Given the description of an element on the screen output the (x, y) to click on. 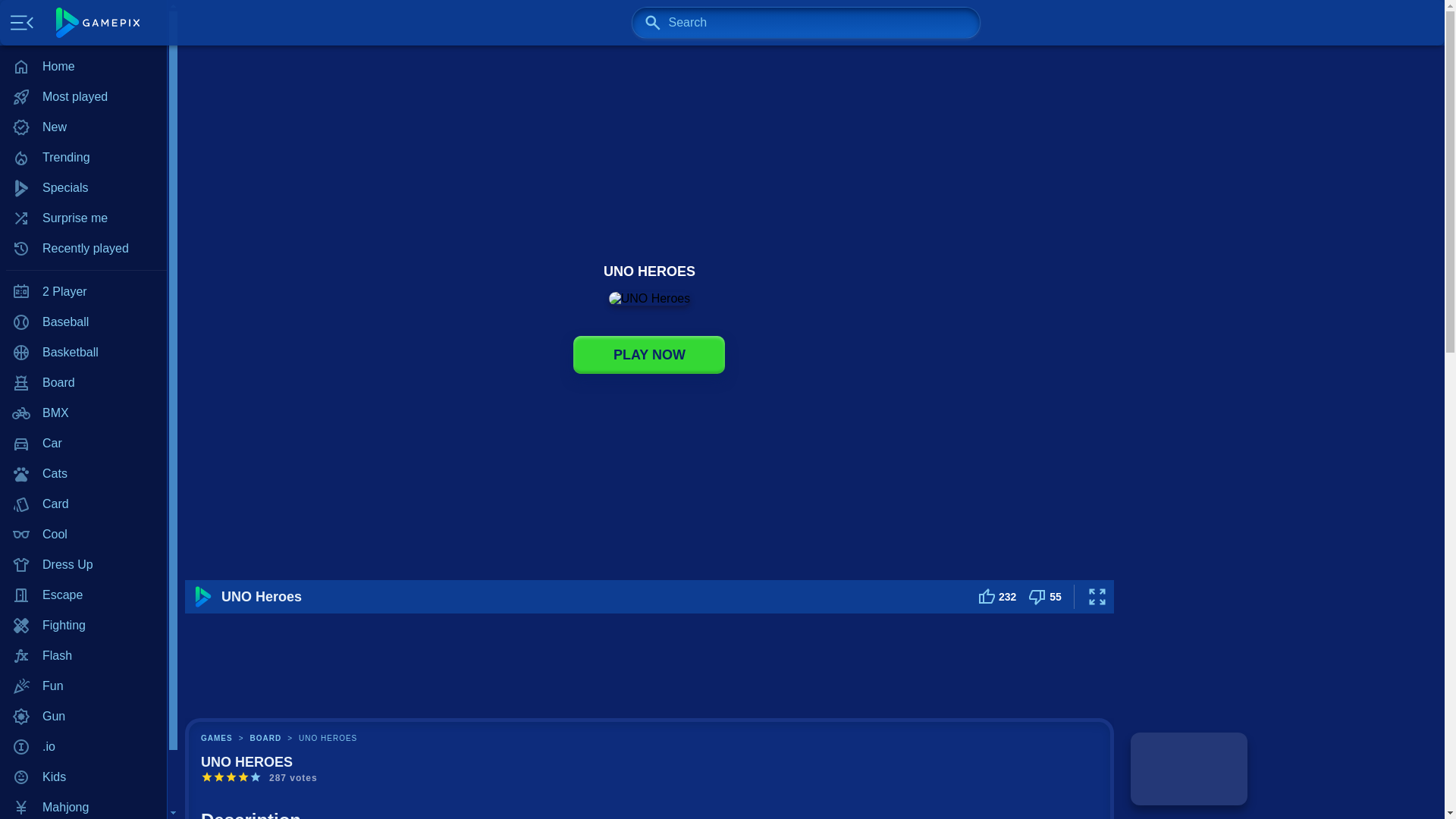
Card (83, 503)
Board (83, 382)
Flash (83, 655)
Cool (83, 534)
Fighting (83, 625)
Specials (83, 187)
Kids (83, 777)
Recently played (83, 248)
Most played (83, 96)
Most played (83, 96)
